Given the description of an element on the screen output the (x, y) to click on. 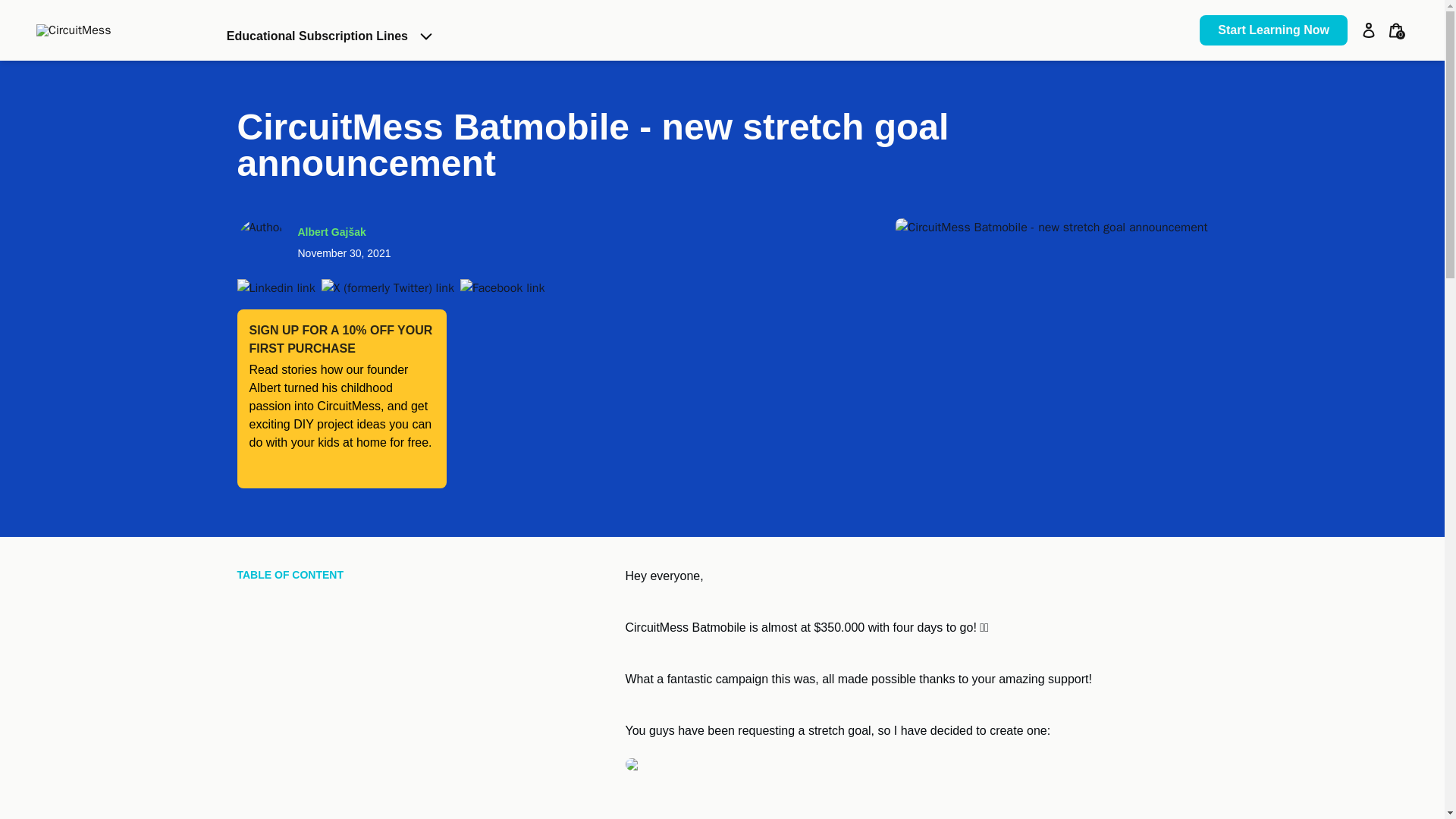
0 (1395, 30)
Start Learning Now (1273, 30)
